Given the description of an element on the screen output the (x, y) to click on. 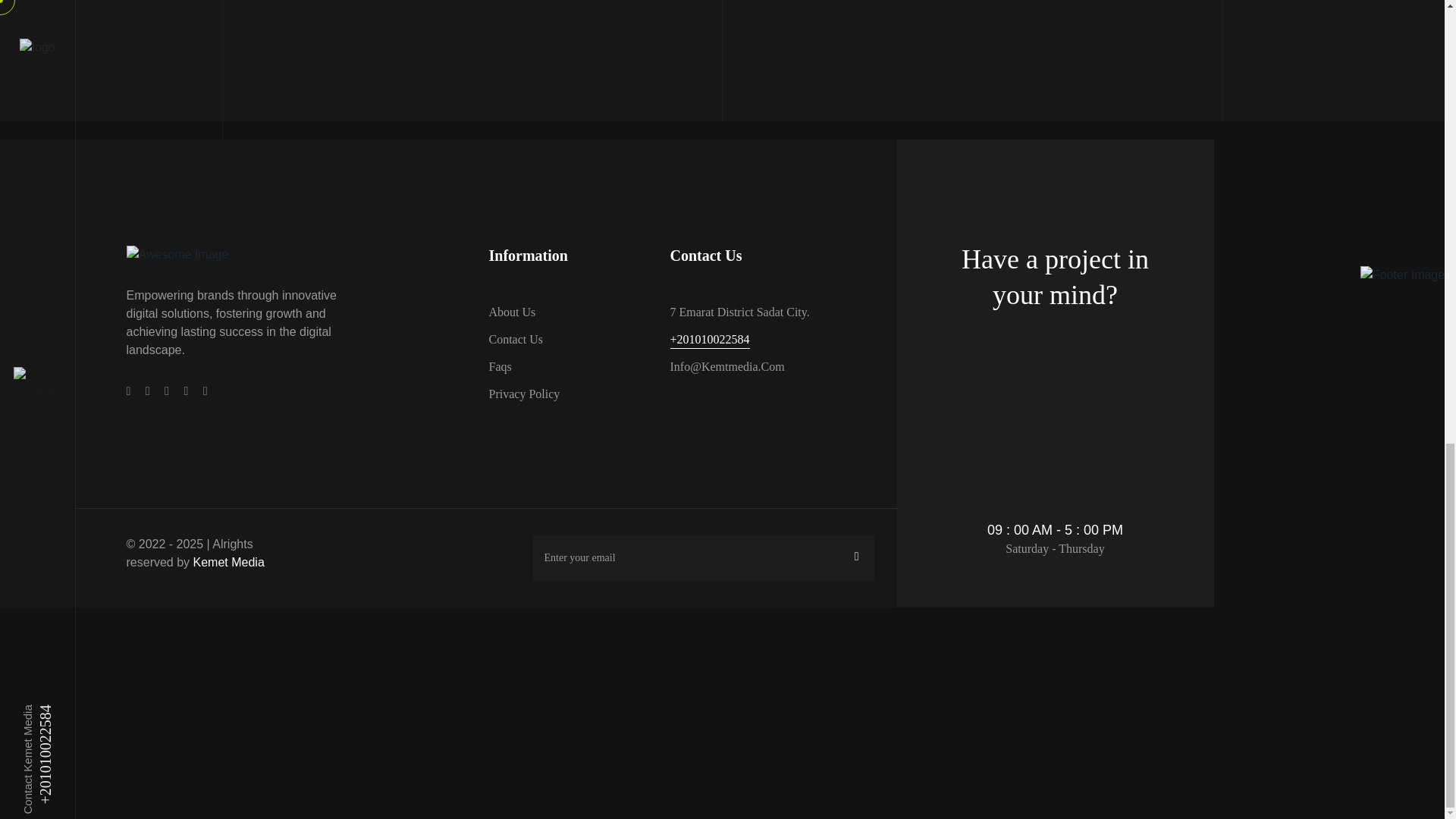
Privacy Policy (523, 393)
Faqs (499, 366)
Contact Us (515, 339)
Kemet Media (228, 562)
About Us (511, 312)
